Given the description of an element on the screen output the (x, y) to click on. 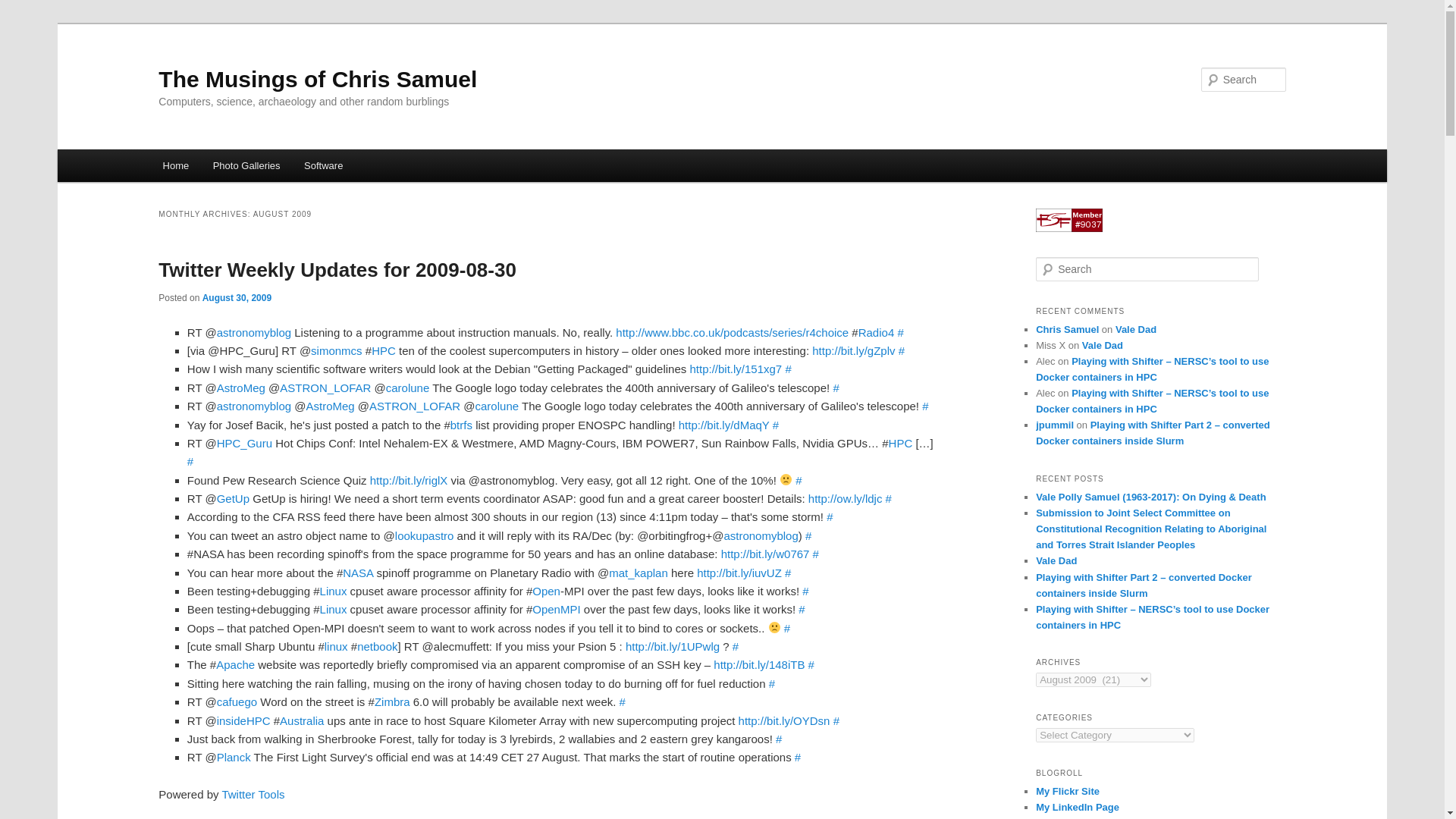
Search (24, 8)
AstroMeg (329, 405)
simonmcs (336, 350)
AstroMeg (240, 387)
9:14 pm (236, 297)
Home (175, 165)
carolune (407, 387)
Radio4 (877, 332)
The Musings of Chris Samuel (317, 78)
astronomyblog (253, 405)
btrfs (460, 424)
August 30, 2009 (236, 297)
Photo Galleries (246, 165)
Software (323, 165)
